Given the description of an element on the screen output the (x, y) to click on. 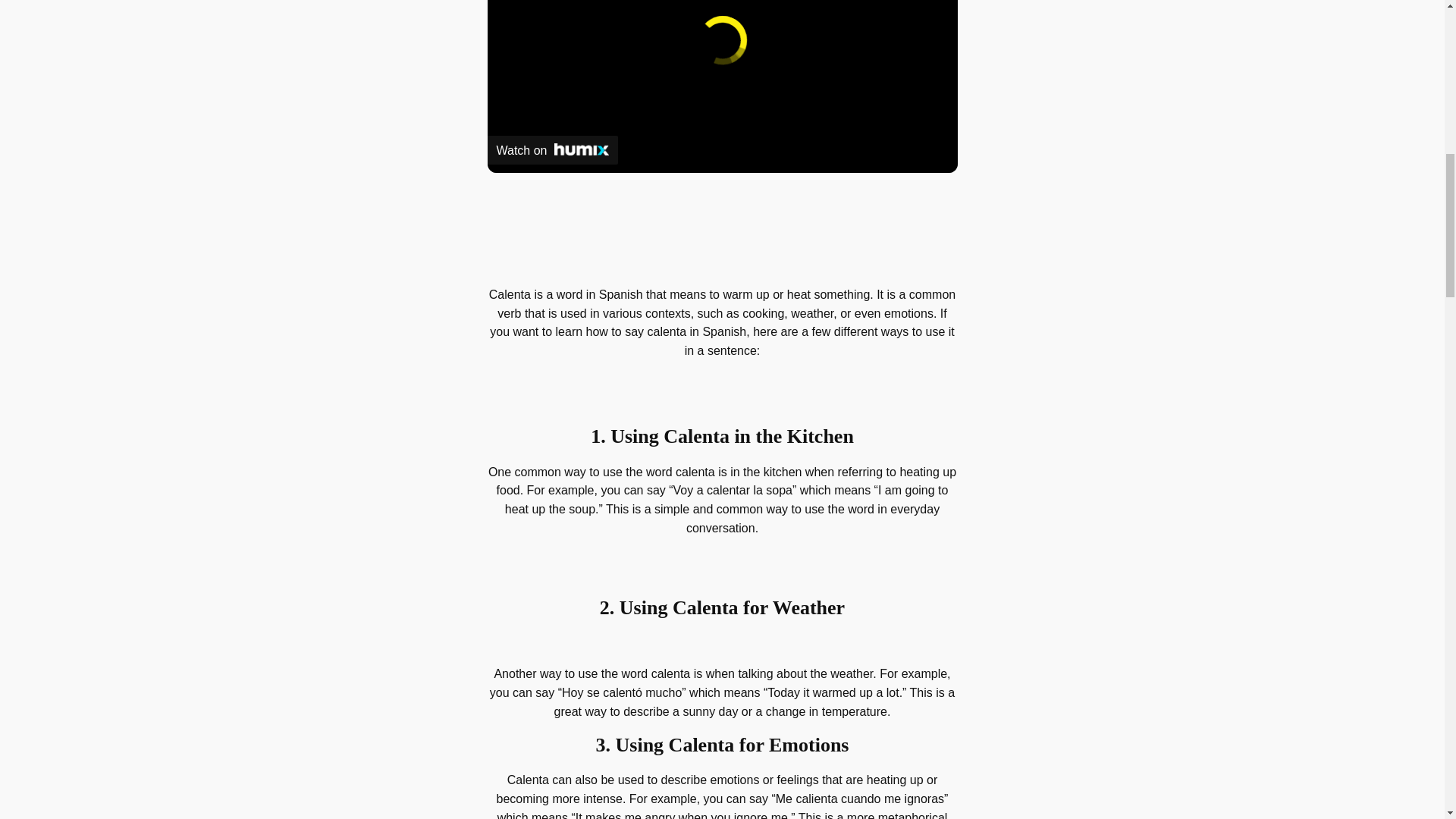
Watch on (551, 149)
